Given the description of an element on the screen output the (x, y) to click on. 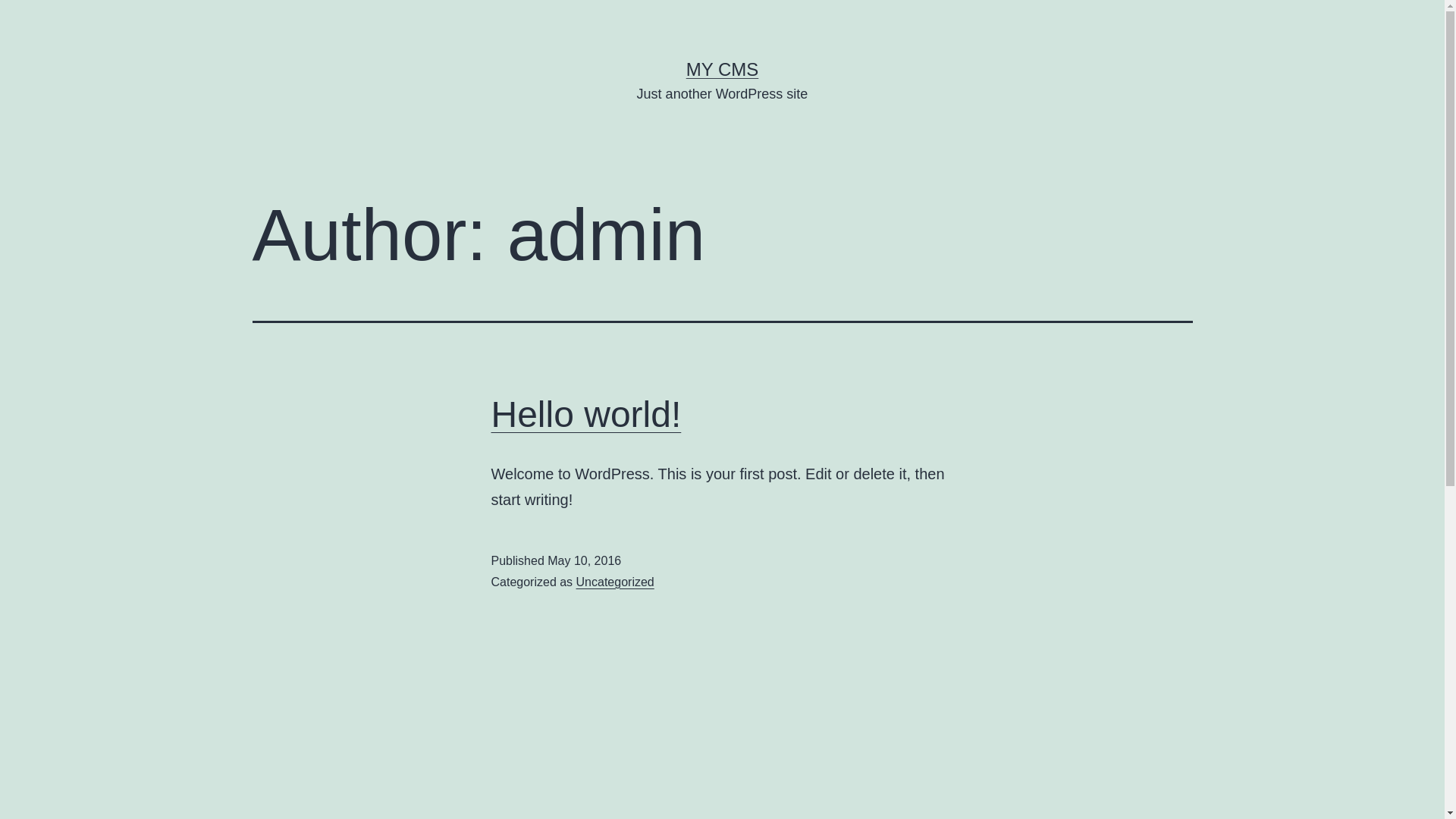
MY CMS Element type: text (722, 69)
Uncategorized Element type: text (615, 581)
Hello world! Element type: text (586, 414)
